Given the description of an element on the screen output the (x, y) to click on. 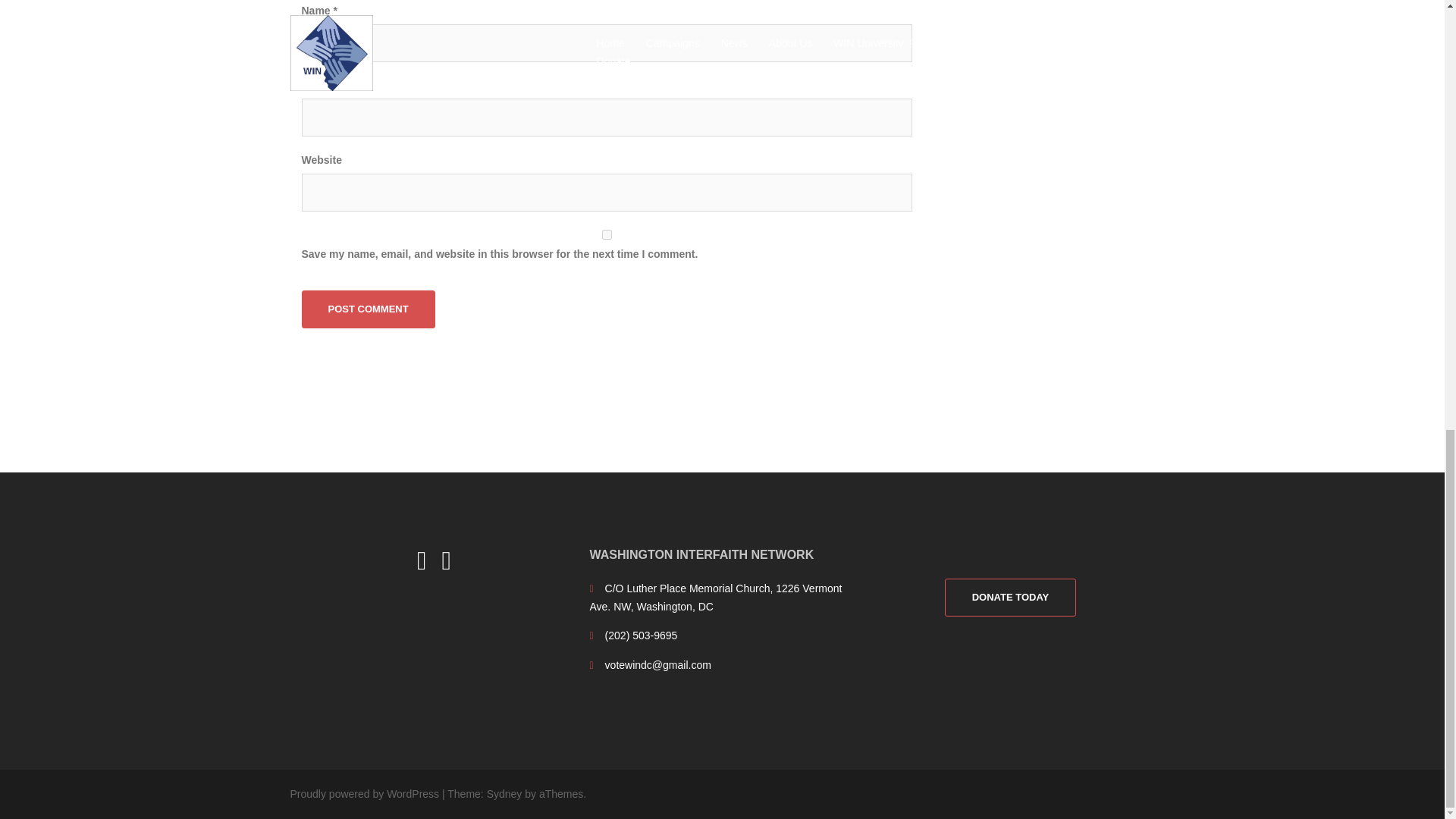
yes (606, 234)
Post Comment (368, 309)
